Given the description of an element on the screen output the (x, y) to click on. 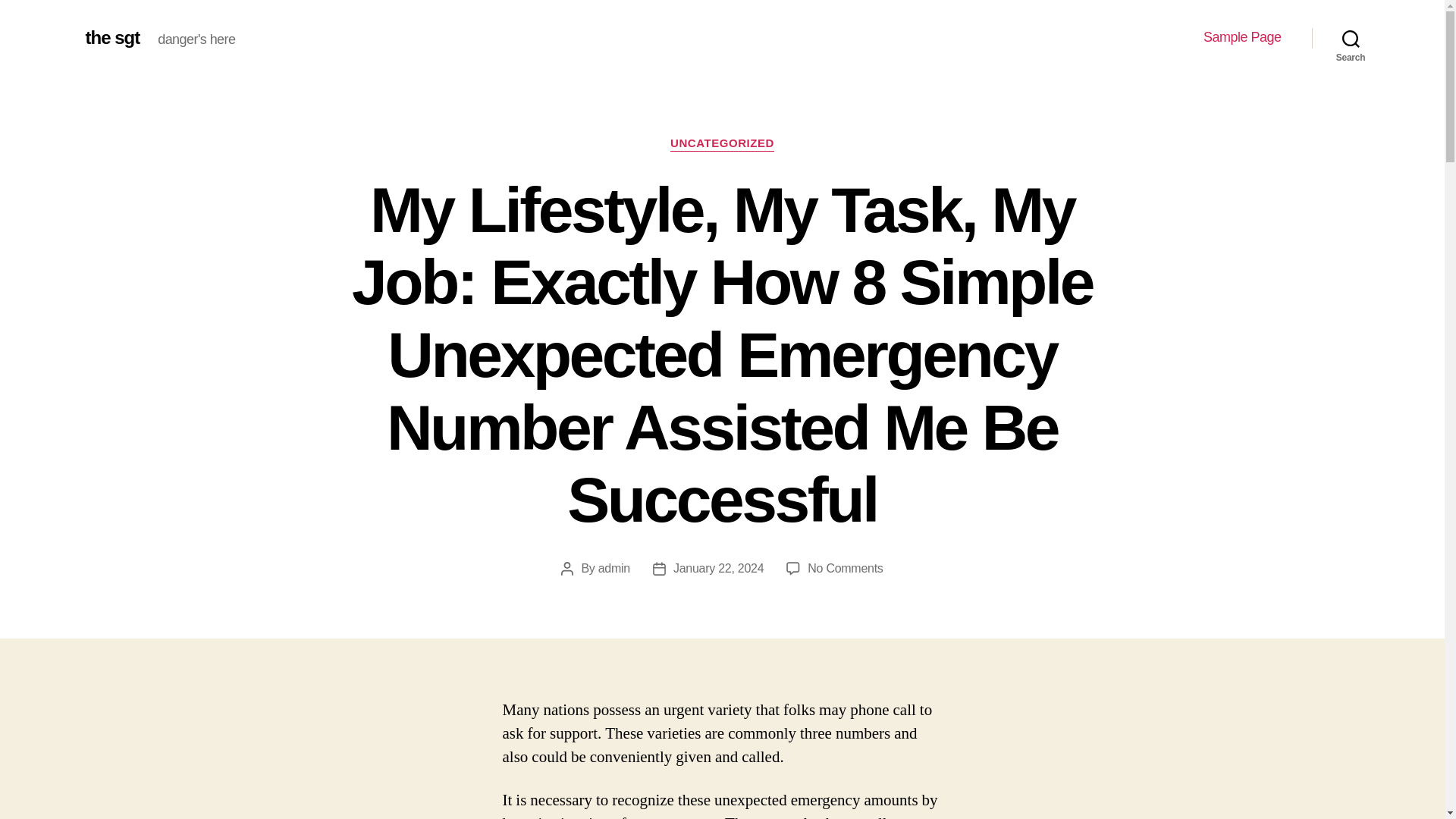
UNCATEGORIZED (721, 143)
Search (1350, 37)
the sgt (111, 37)
admin (614, 567)
January 22, 2024 (717, 567)
Sample Page (1242, 37)
